Given the description of an element on the screen output the (x, y) to click on. 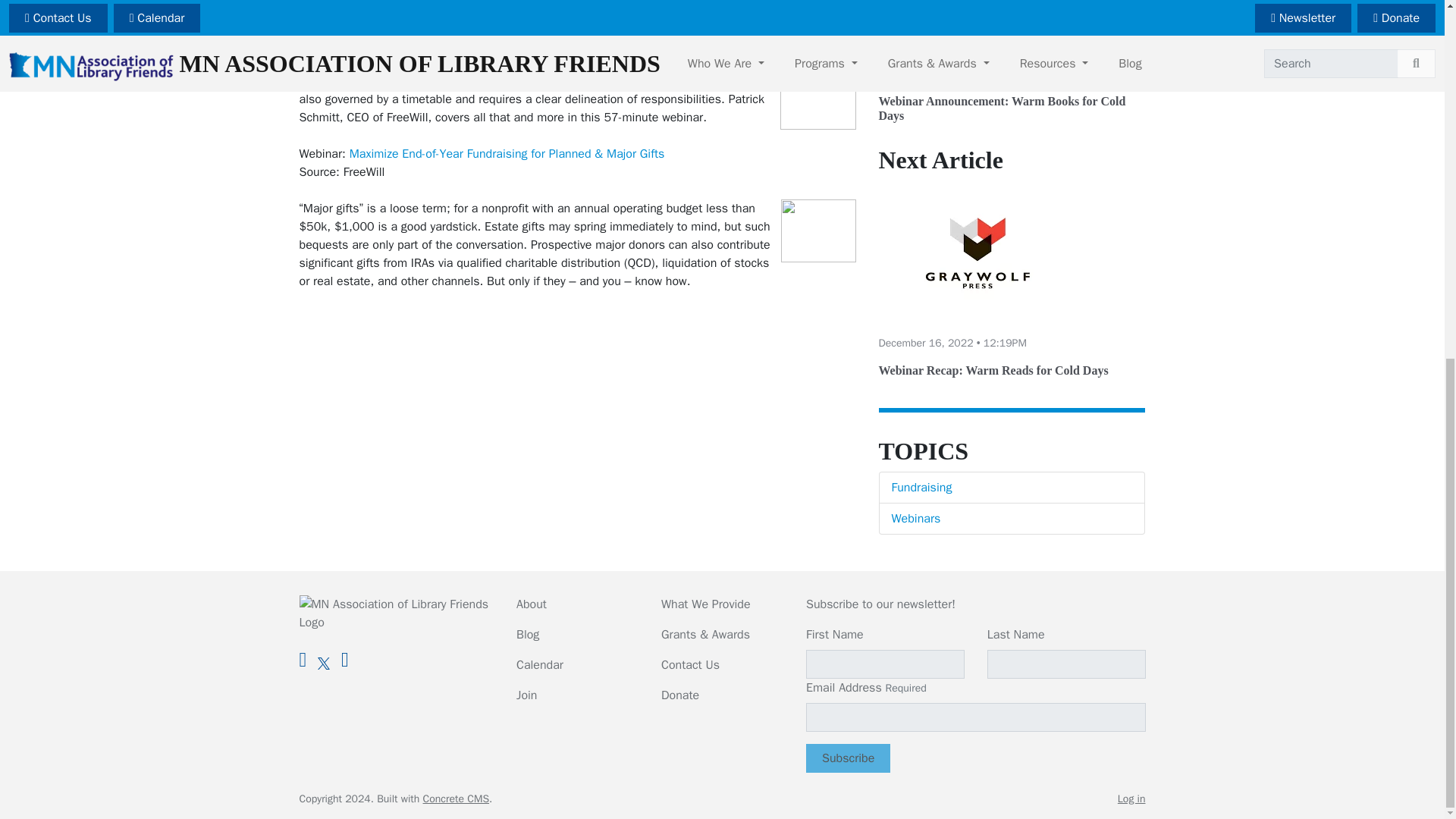
Concrete CMS (456, 798)
5 Proven Year-End Giving Strategies to Grow Revenue (491, 7)
Subscribe (847, 758)
